Given the description of an element on the screen output the (x, y) to click on. 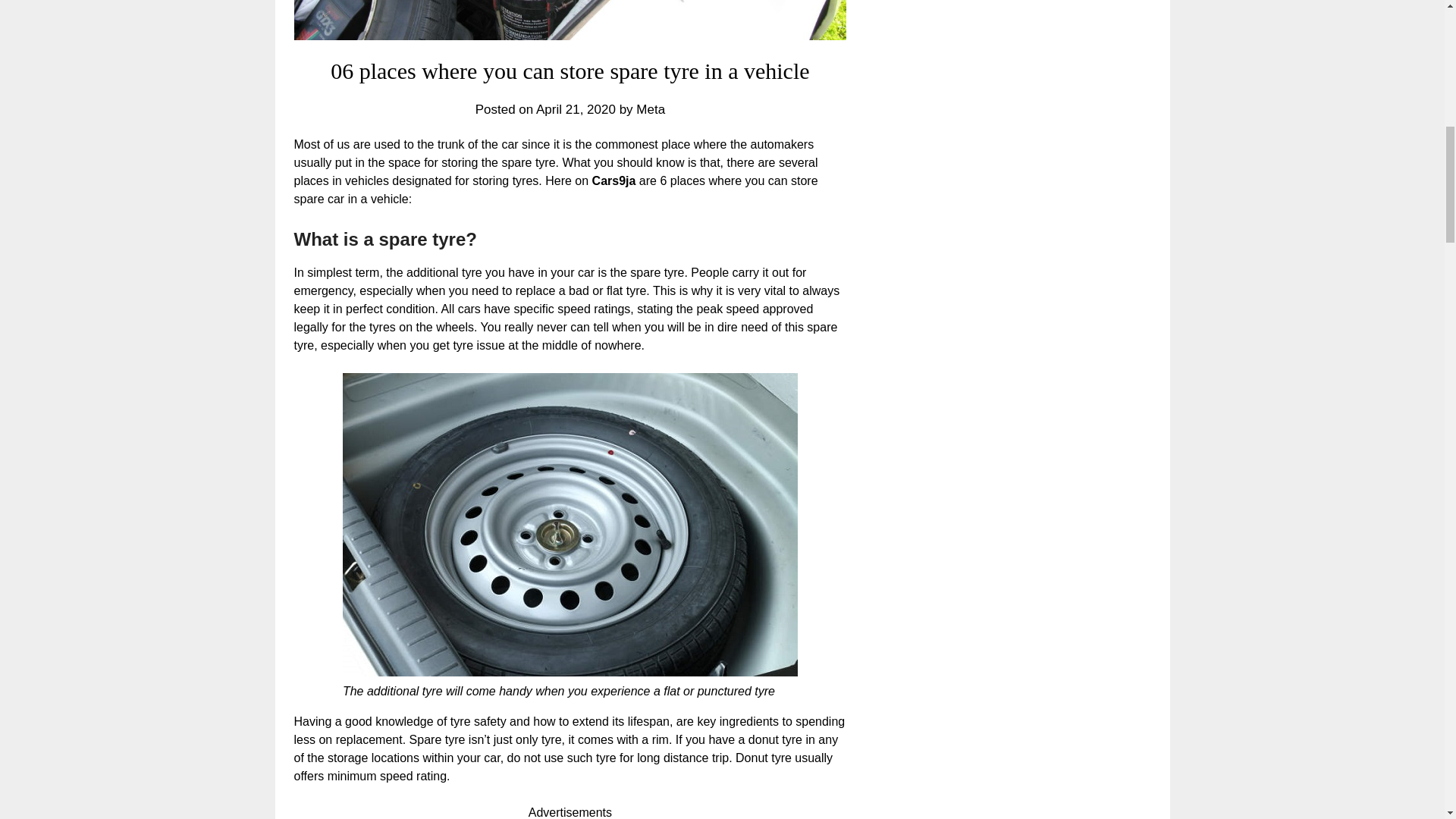
Meta (650, 109)
April 21, 2020 (575, 109)
